Given the description of an element on the screen output the (x, y) to click on. 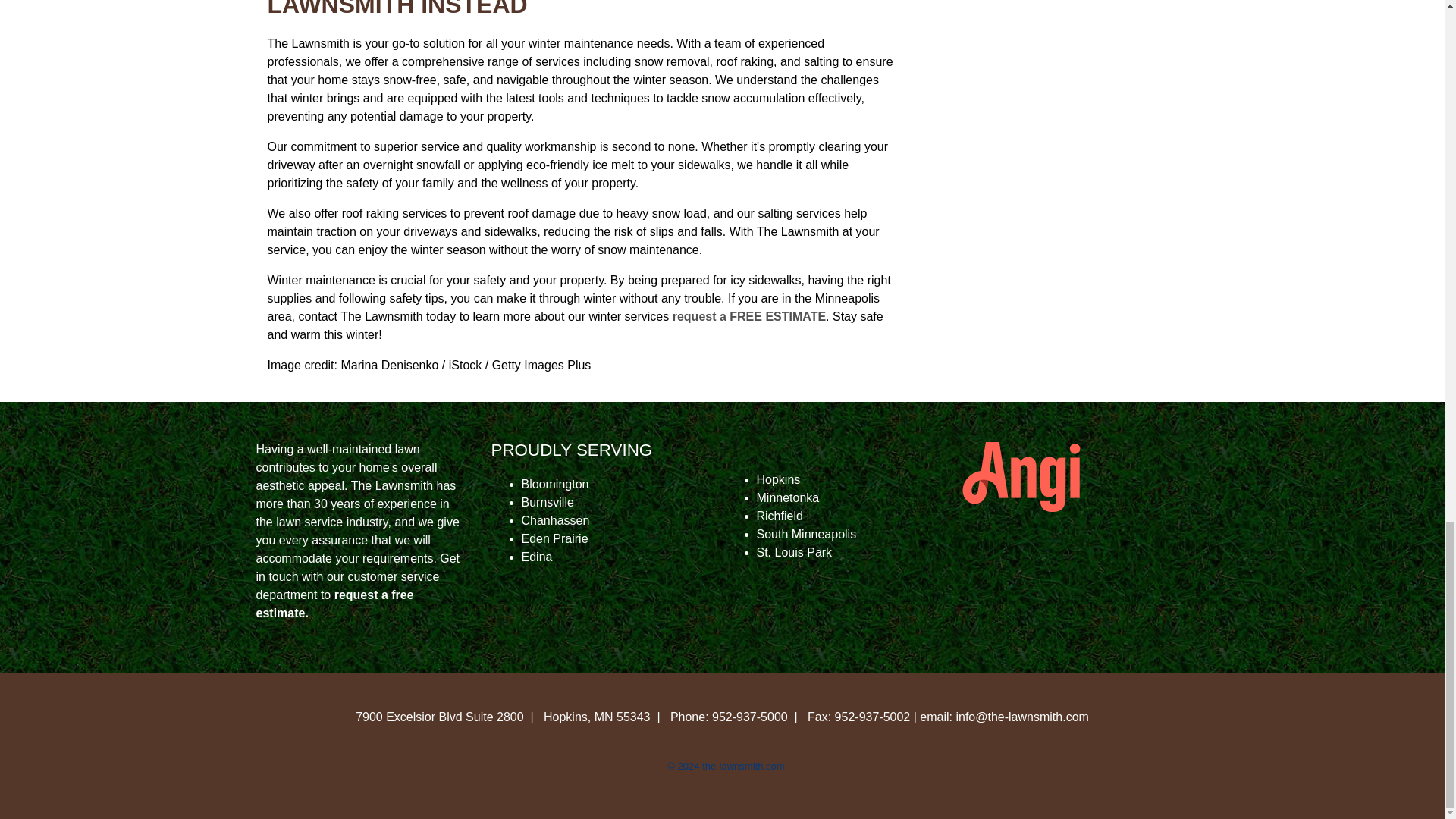
 request a FREE ESTIMATE (746, 316)
